Given the description of an element on the screen output the (x, y) to click on. 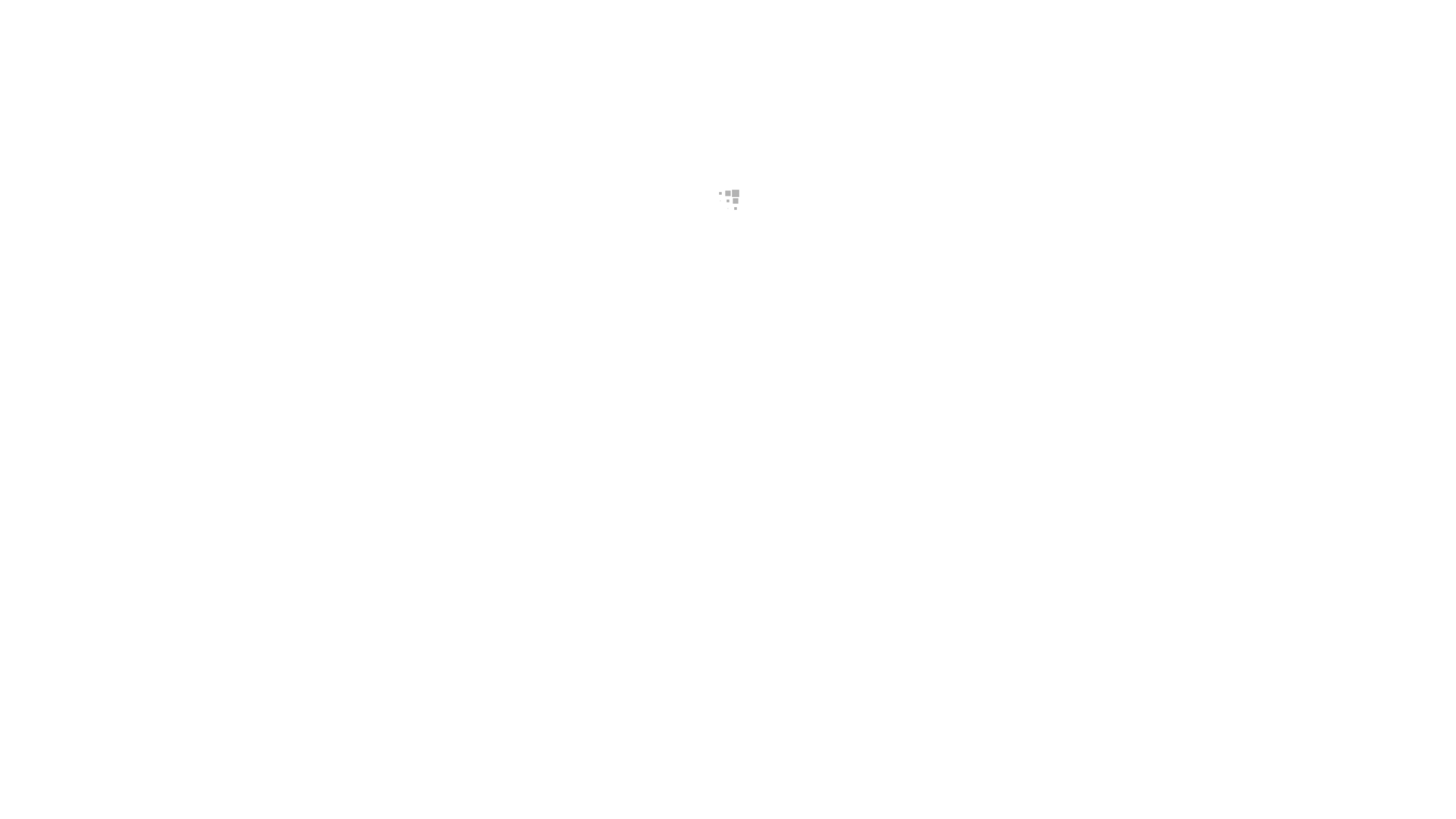
GO Element type: text (1128, 105)
Login/Register Element type: text (1103, 22)
Advanced Search Element type: text (478, 120)
